Given the description of an element on the screen output the (x, y) to click on. 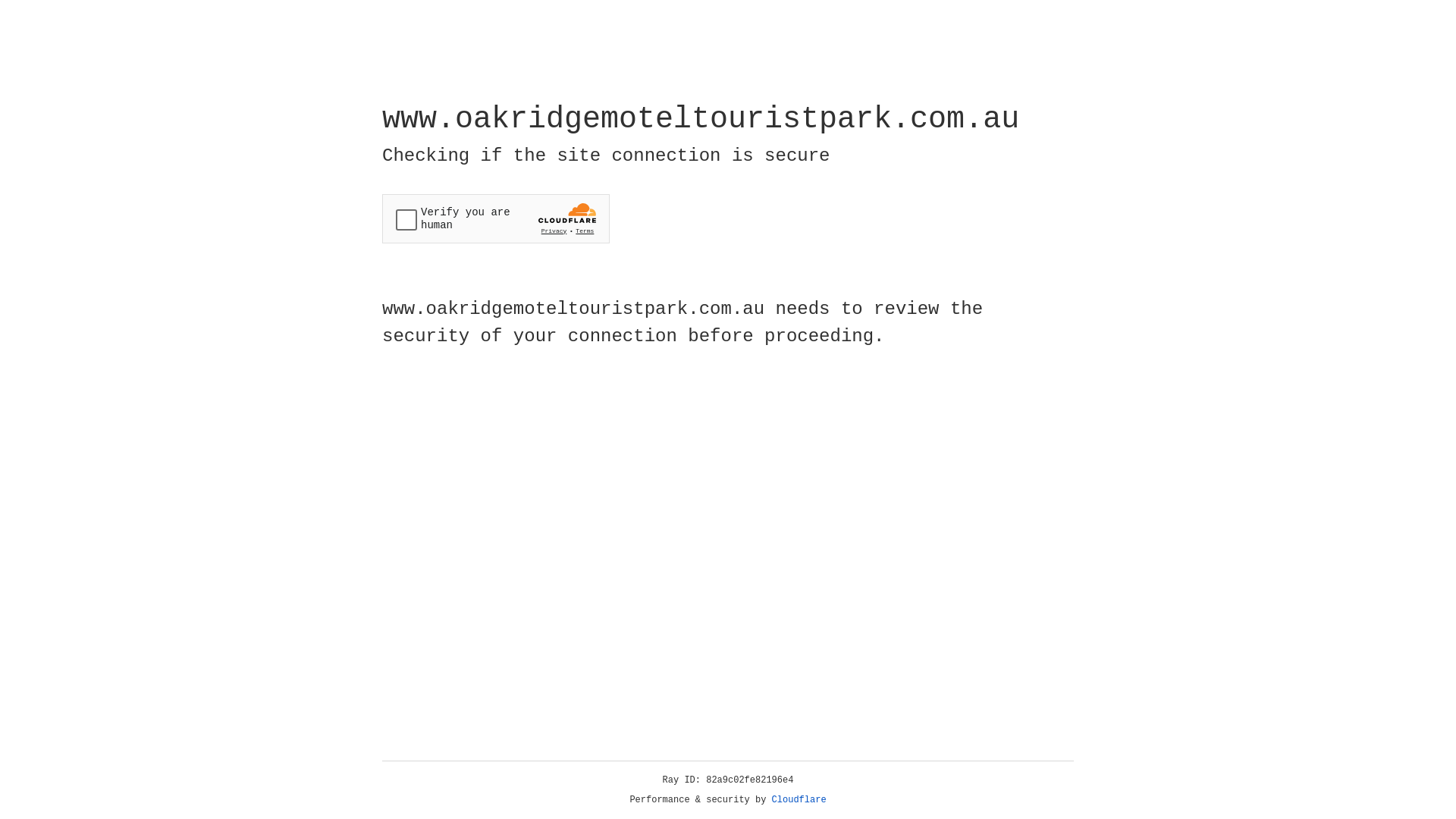
Cloudflare Element type: text (798, 799)
Widget containing a Cloudflare security challenge Element type: hover (495, 218)
